Given the description of an element on the screen output the (x, y) to click on. 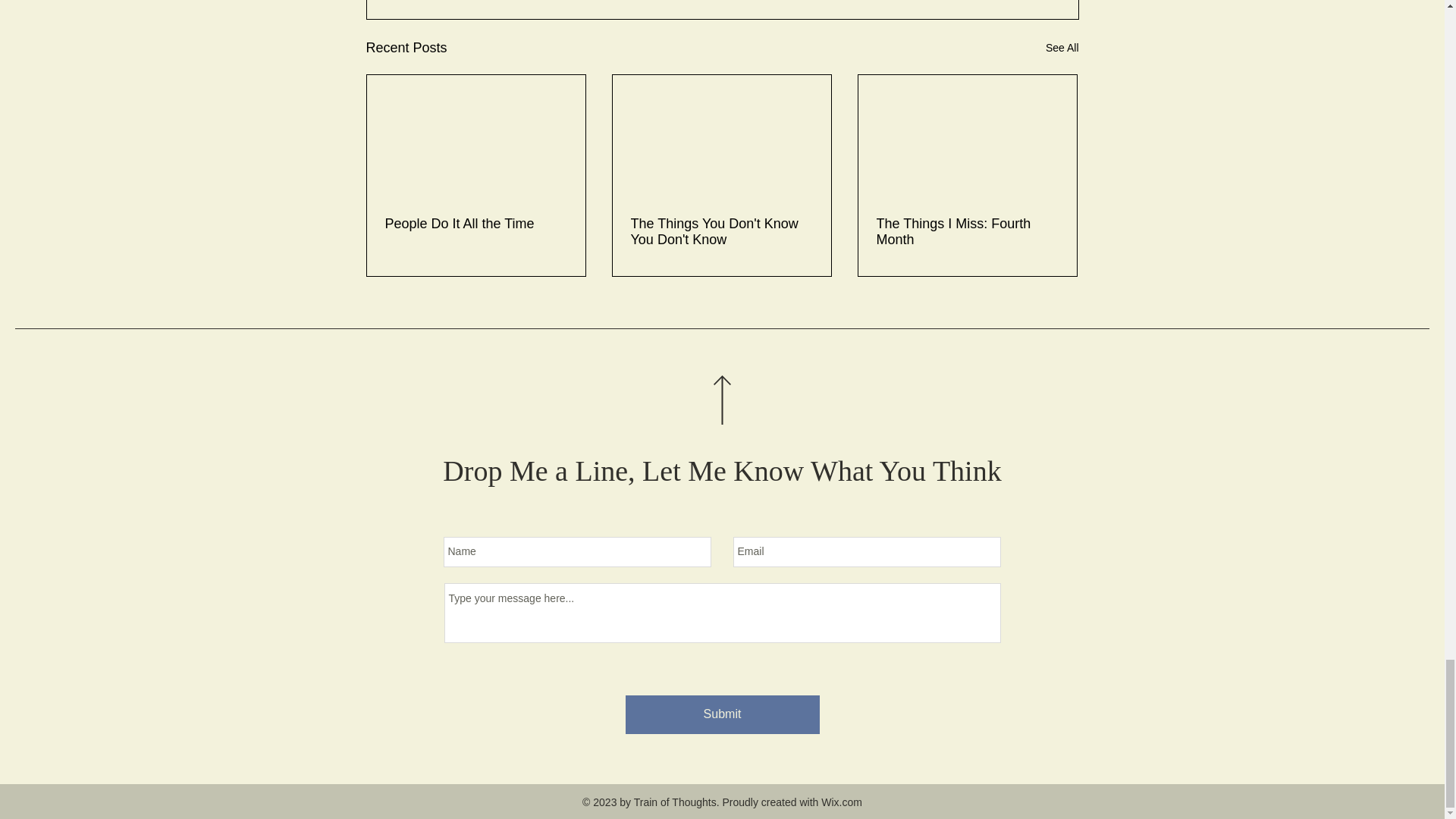
The Things You Don't Know You Don't Know (721, 232)
See All (1061, 47)
The Things I Miss: Fourth Month (967, 232)
Submit (721, 714)
People Do It All the Time (476, 223)
Wix.com (841, 802)
